Given the description of an element on the screen output the (x, y) to click on. 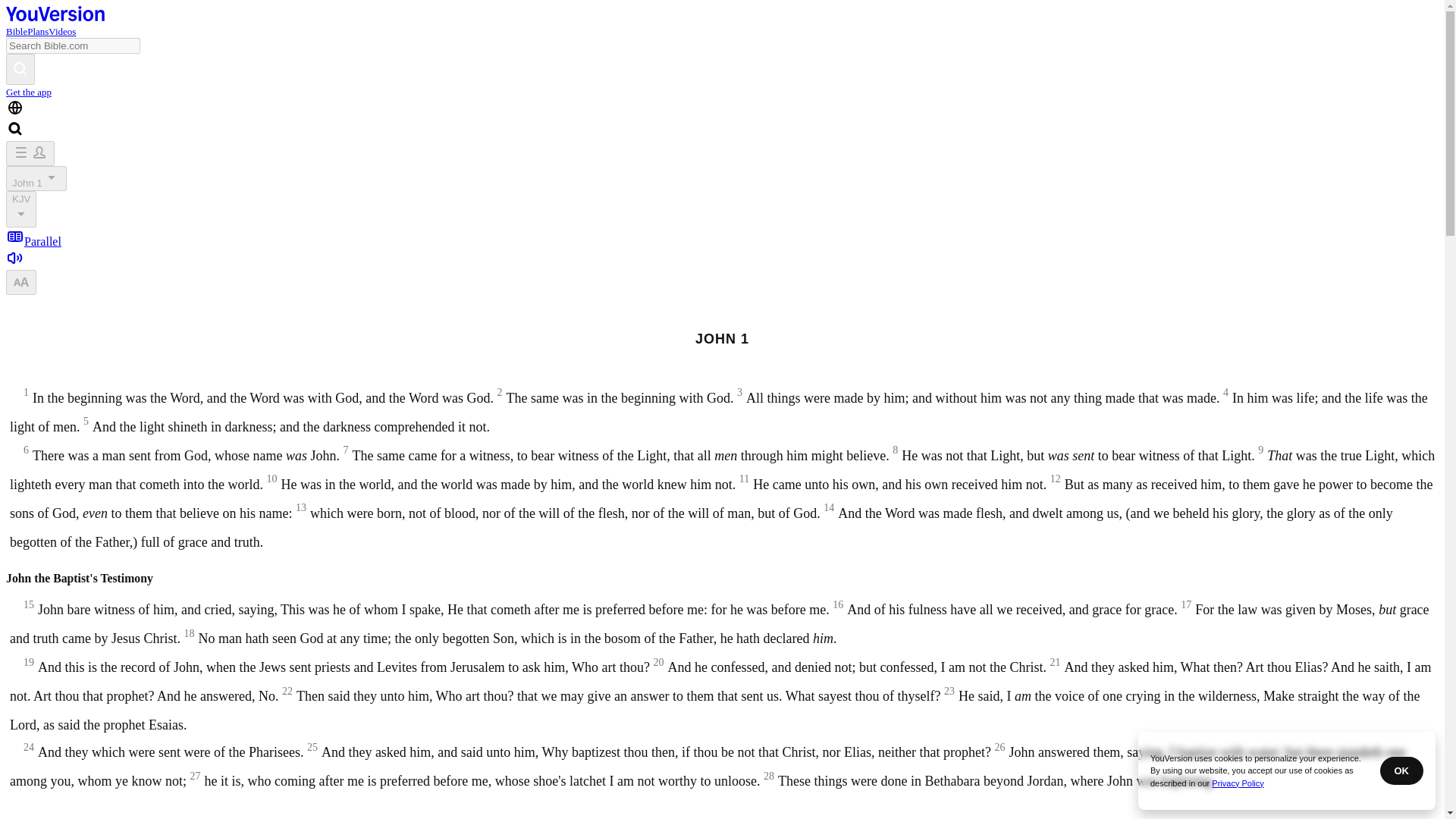
READER SETTINGS (20, 280)
Search (19, 69)
Parallel (33, 241)
Bible (16, 30)
Language Selector (14, 107)
Search Icon (14, 128)
YouVersion Logo (54, 16)
Plans (37, 30)
John 1 (35, 178)
READER SETTINGS (20, 282)
